Given the description of an element on the screen output the (x, y) to click on. 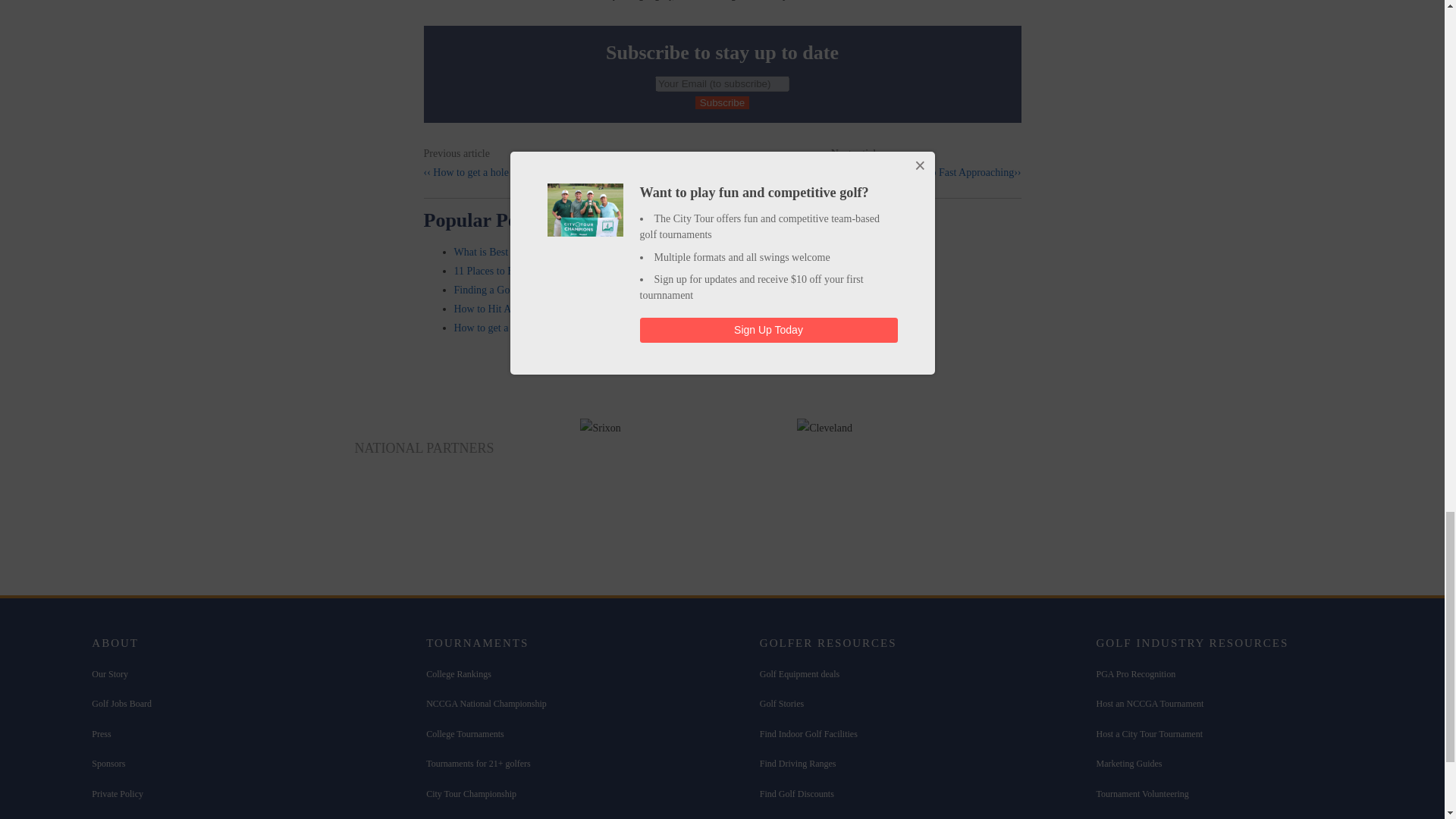
Finding a Golf Demo Day (508, 289)
Subscribe (722, 102)
How to get a hole in one (480, 172)
11 Places to Buy and Sell Used Golf Clubs (544, 270)
Subscribe (722, 102)
What is Best Ball Golf v. Scramble? (529, 251)
City Tour Championship Fast Approaching (926, 171)
